Given the description of an element on the screen output the (x, y) to click on. 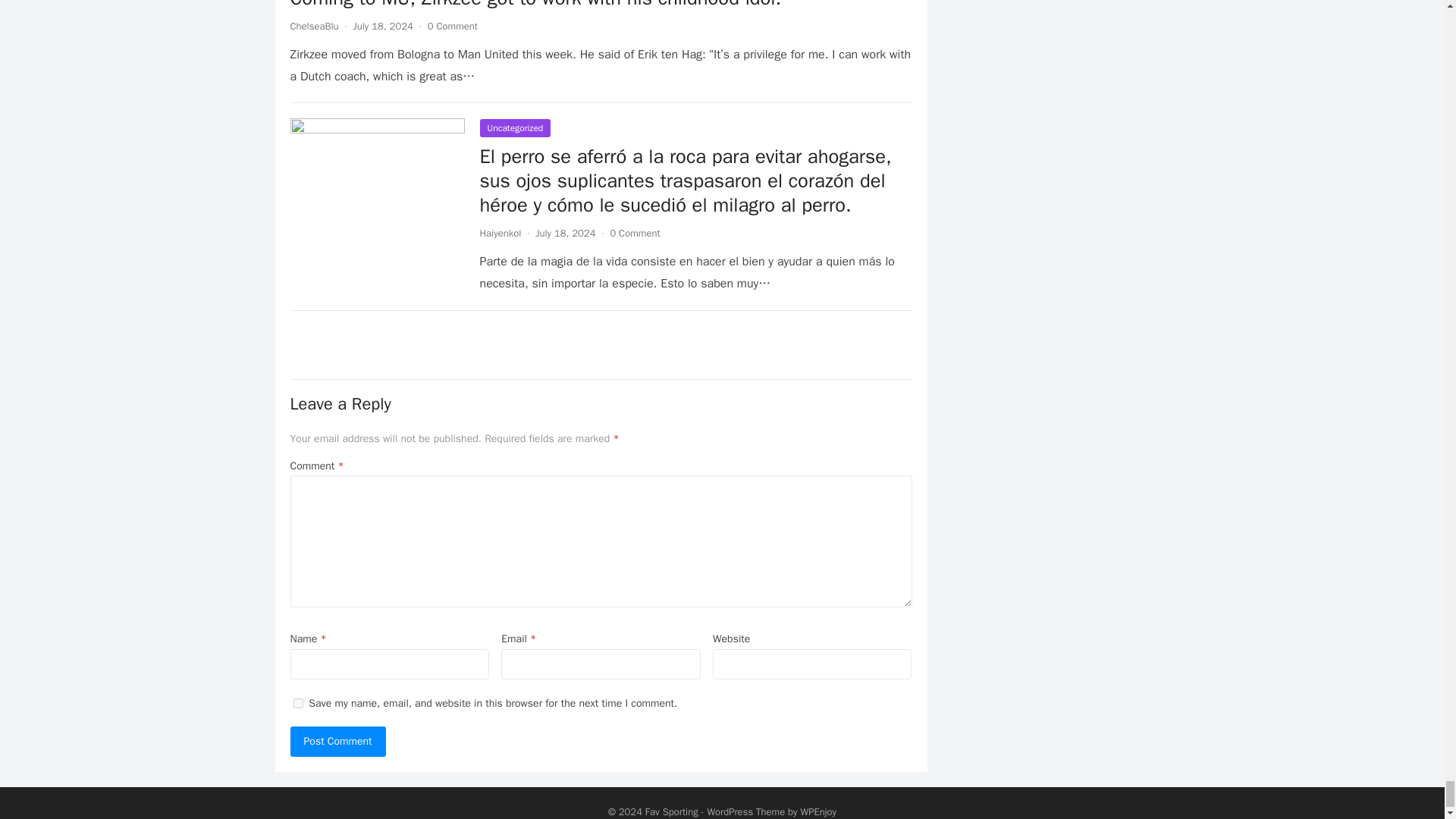
Post Comment (337, 741)
yes (297, 703)
